Given the description of an element on the screen output the (x, y) to click on. 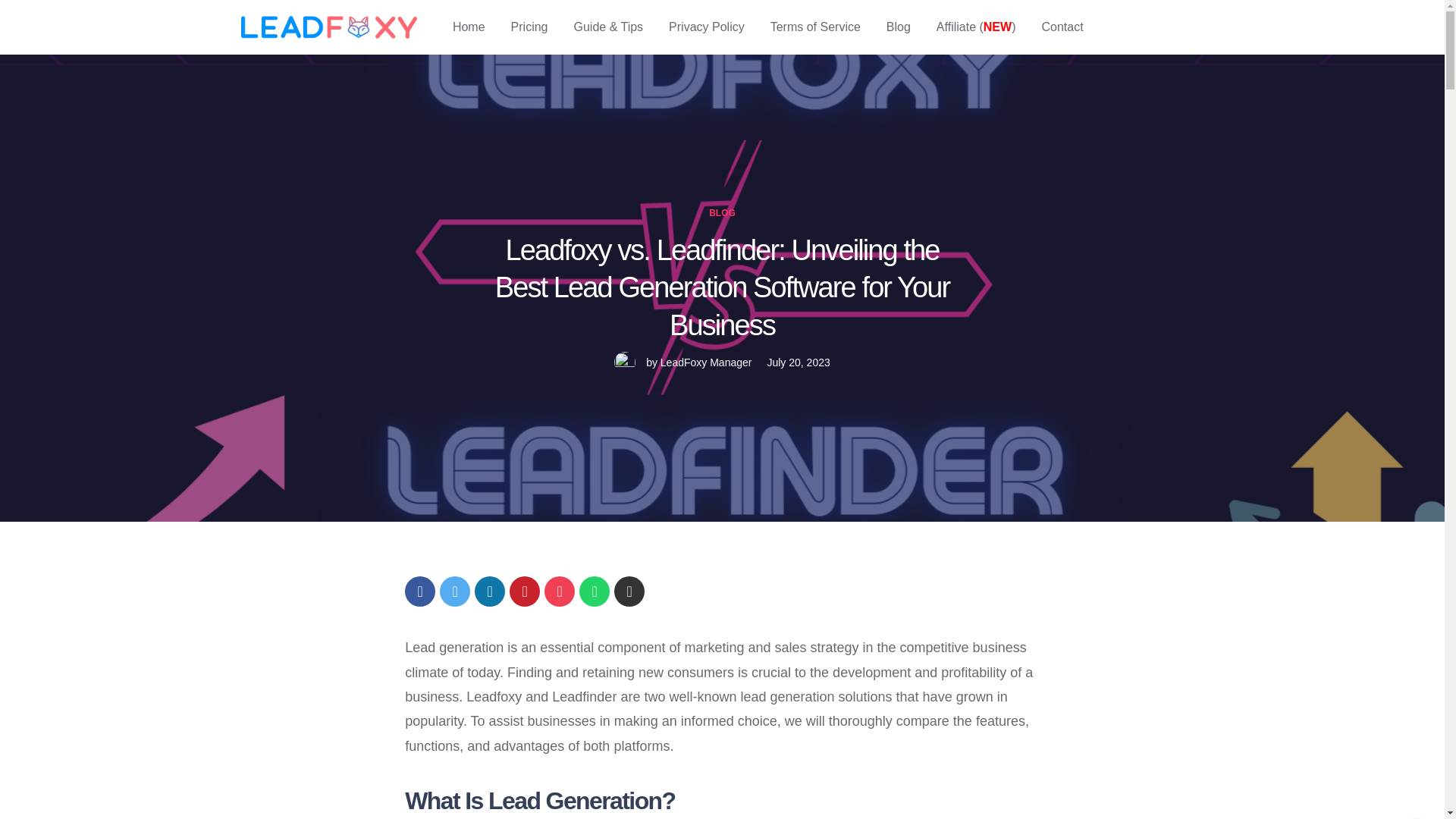
Home (468, 27)
July 20, 2023 (798, 362)
Terms of Service (815, 27)
Blog (898, 27)
BLOG (722, 213)
Privacy Policy (706, 27)
Contact (1062, 27)
Pricing (529, 27)
by LeadFoxy Manager (682, 362)
